Given the description of an element on the screen output the (x, y) to click on. 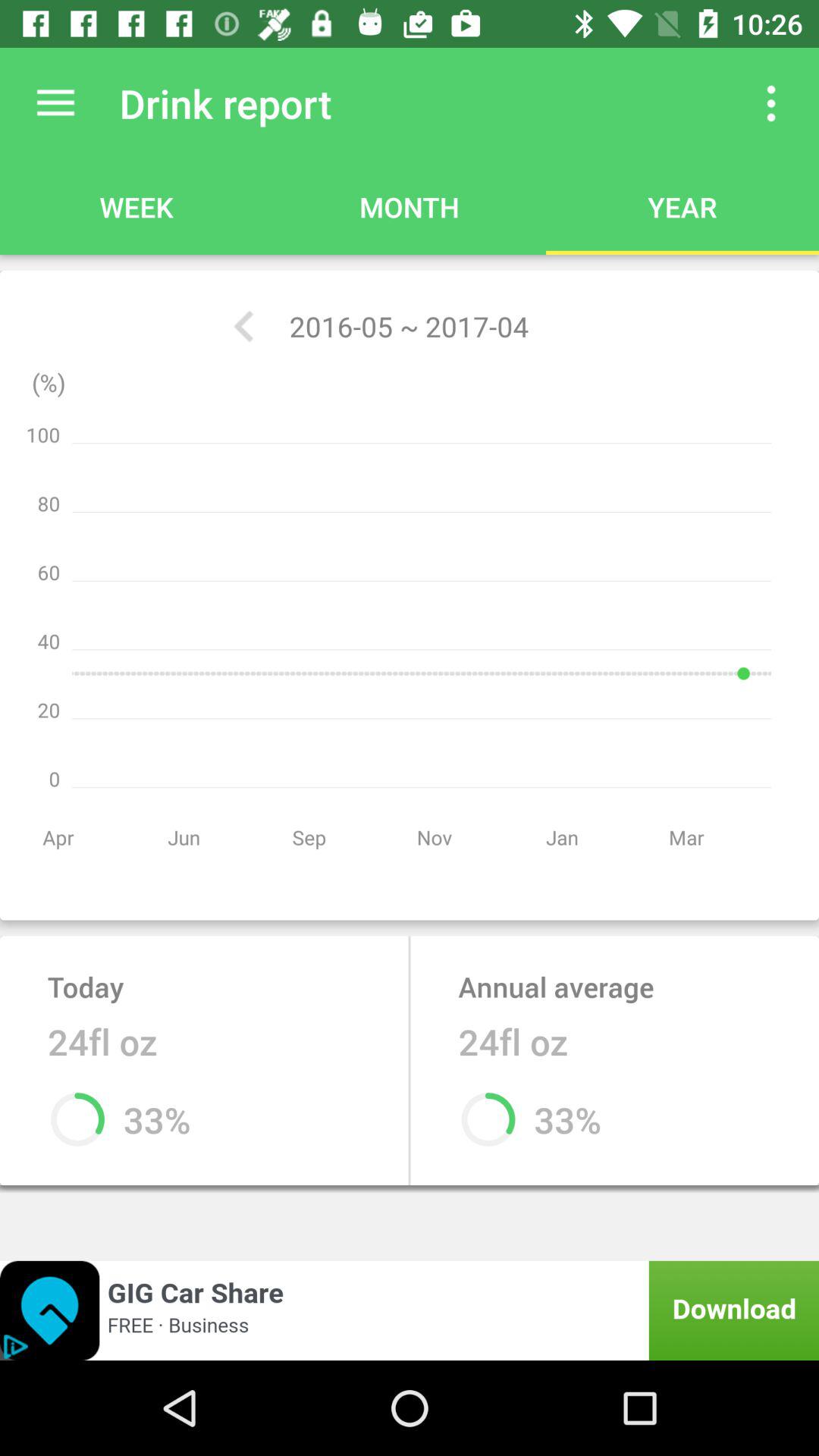
turn off the icon to the right of (%) (243, 326)
